Given the description of an element on the screen output the (x, y) to click on. 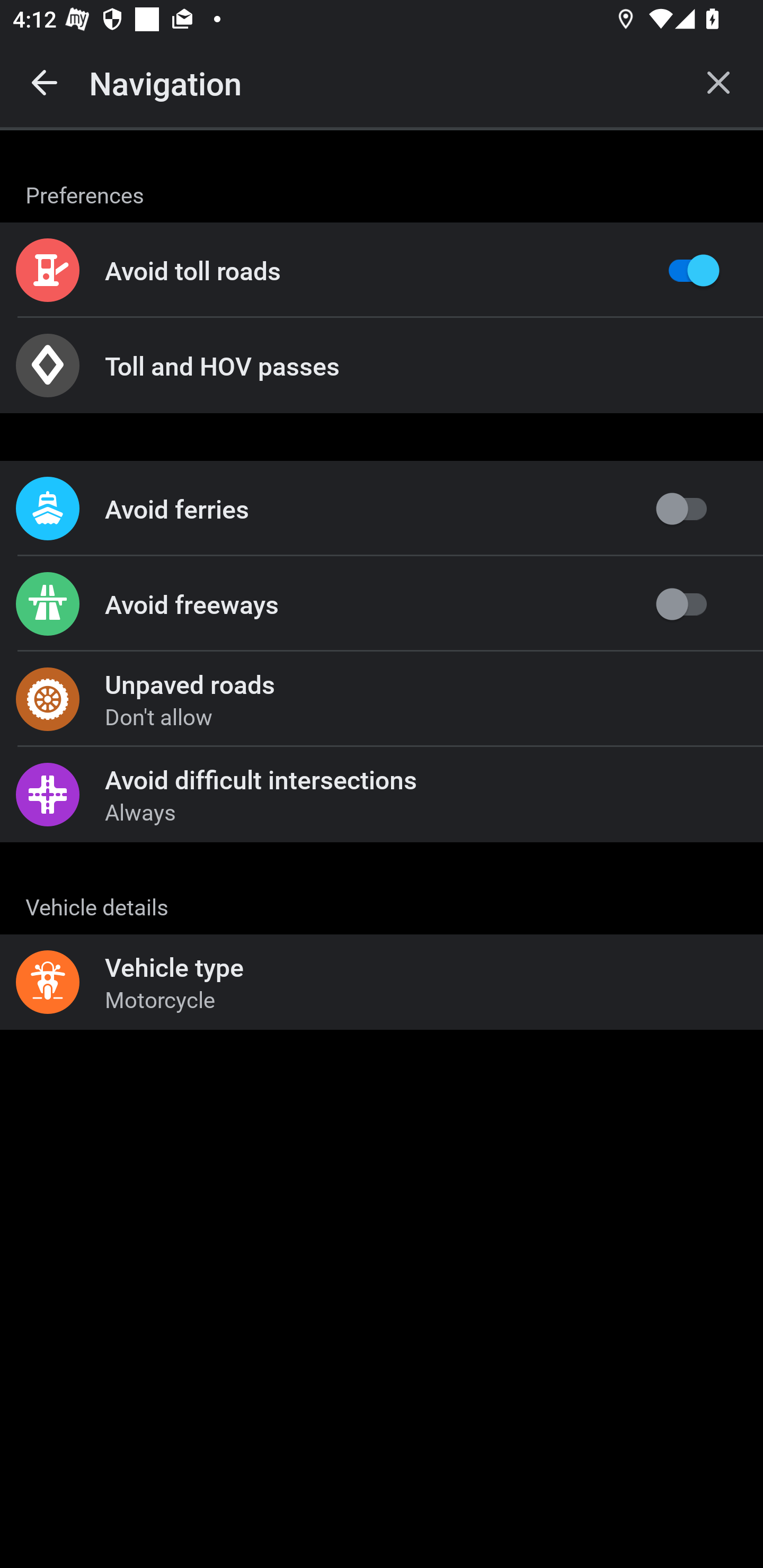
Avoid toll roads (381, 270)
Toll and HOV passes (381, 365)
Avoid ferries (381, 508)
Avoid freeways (381, 604)
Unpaved roads Don't allow (381, 699)
Avoid difficult intersections Always (381, 794)
ACTION_CELL_ICON Shut off ACTION_CELL_TEXT (381, 891)
Vehicle type Motorcycle (381, 982)
